Given the description of an element on the screen output the (x, y) to click on. 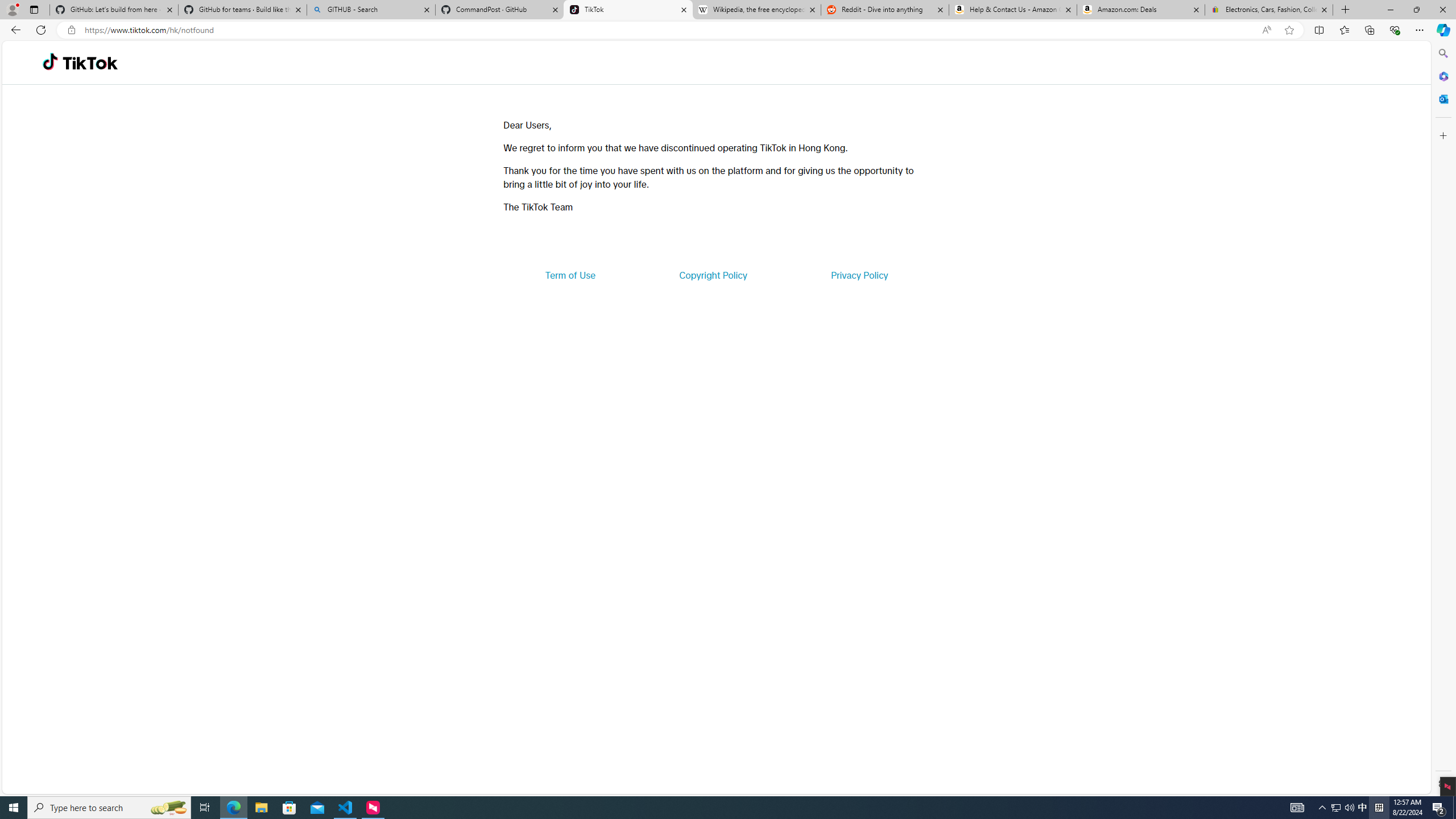
Copyright Policy (712, 274)
Wikipedia, the free encyclopedia (756, 9)
